Given the description of an element on the screen output the (x, y) to click on. 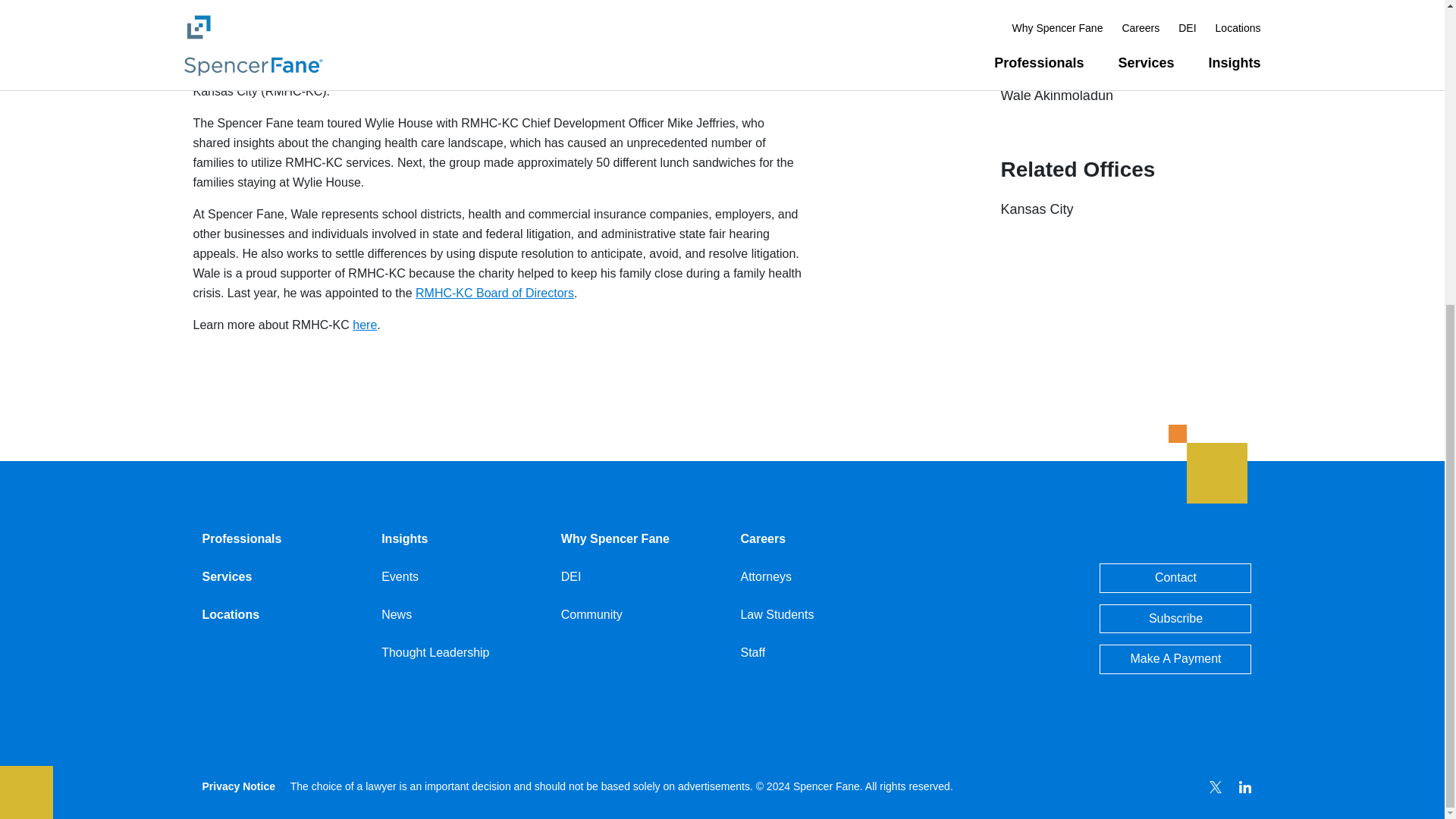
Wale Akinmoladun (1057, 95)
here (364, 324)
Kansas City (1037, 209)
RMHC-KC Board of Directors (493, 292)
Services (226, 576)
Wale Akinmoladun (370, 51)
Professionals (241, 538)
Locations (230, 614)
Back to Top (1223, 464)
